Given the description of an element on the screen output the (x, y) to click on. 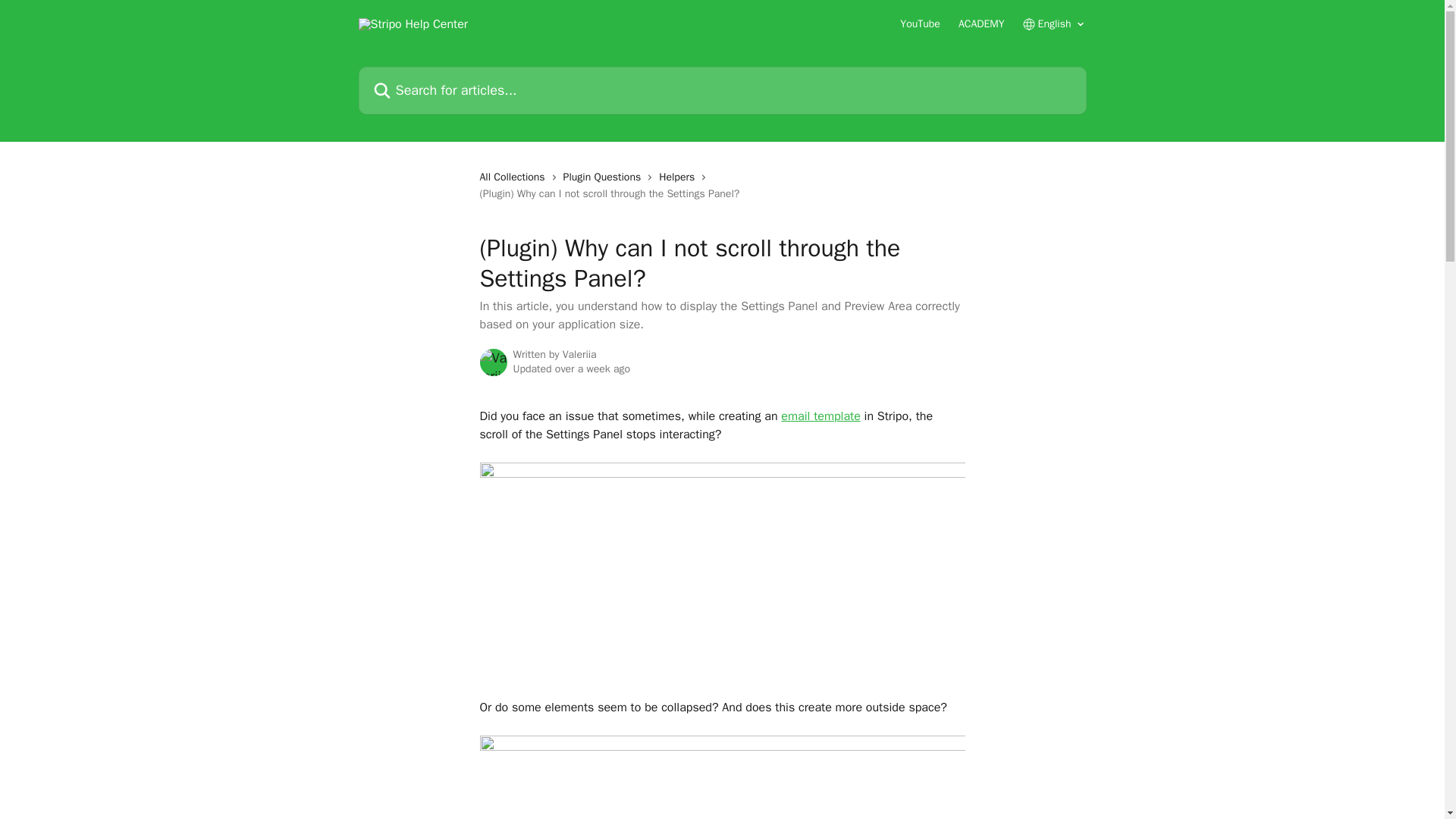
All Collections (514, 176)
Plugin Questions (605, 176)
email template (820, 416)
Helpers (679, 176)
ACADEMY (981, 23)
YouTube (919, 23)
